Given the description of an element on the screen output the (x, y) to click on. 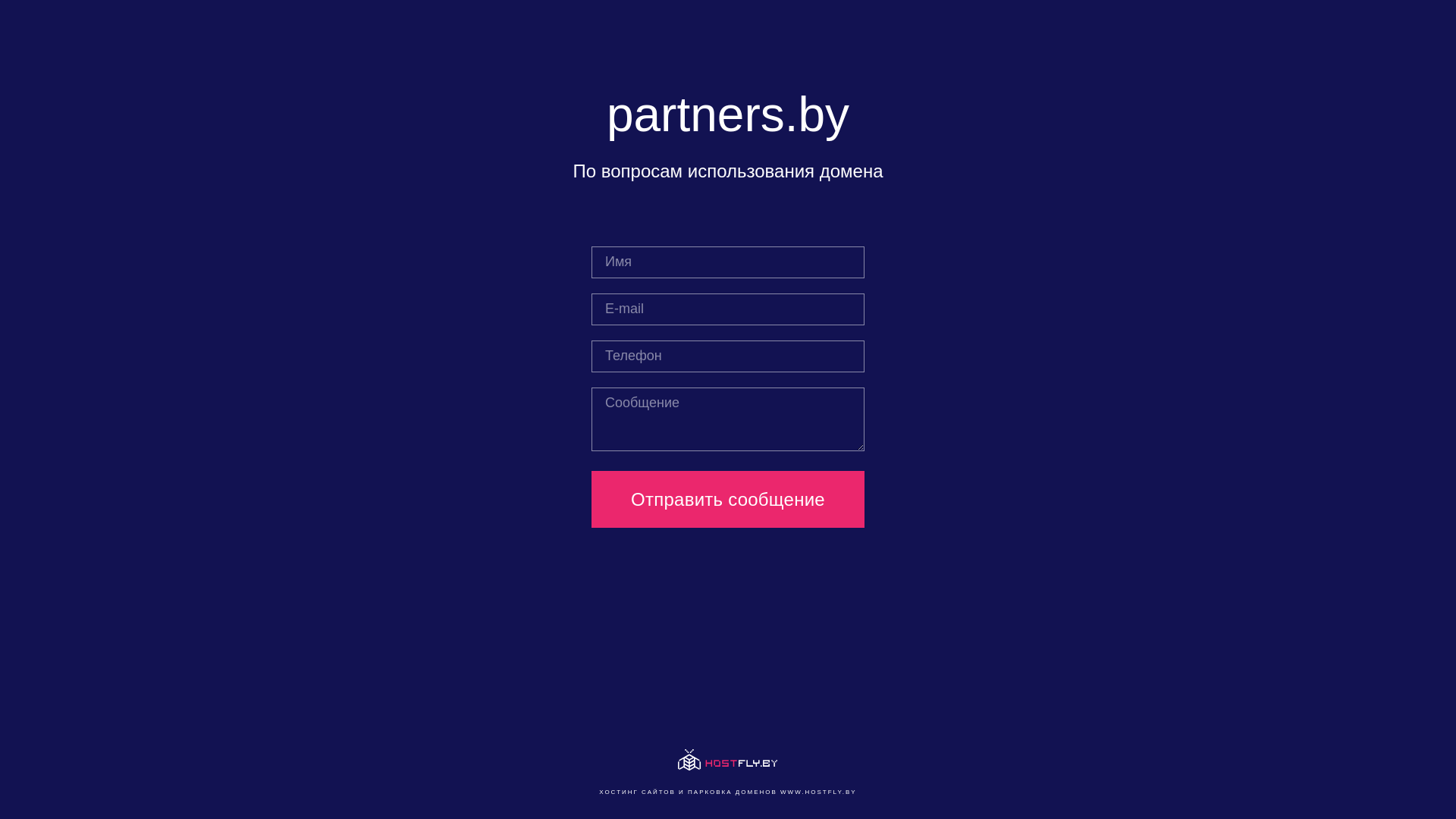
WWW.HOSTFLY.BY Element type: text (818, 791)
